Given the description of an element on the screen output the (x, y) to click on. 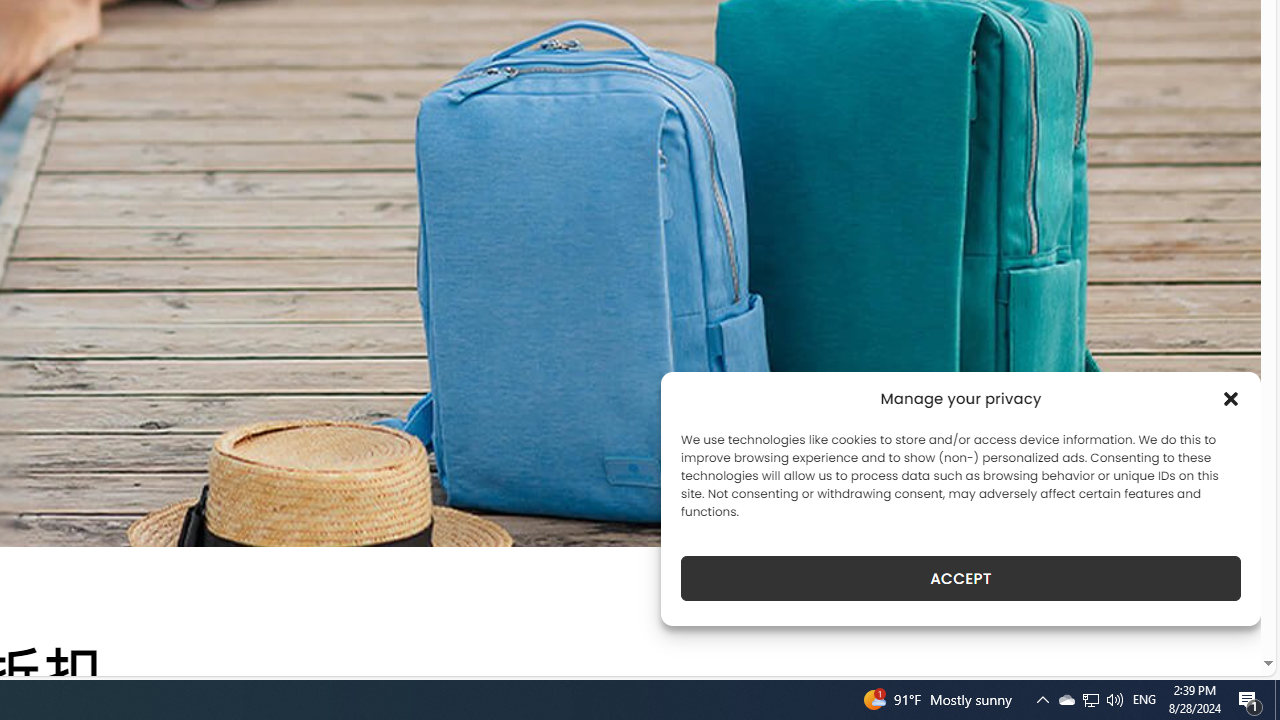
ACCEPT (960, 578)
Class: cmplz-close (1231, 398)
